Given the description of an element on the screen output the (x, y) to click on. 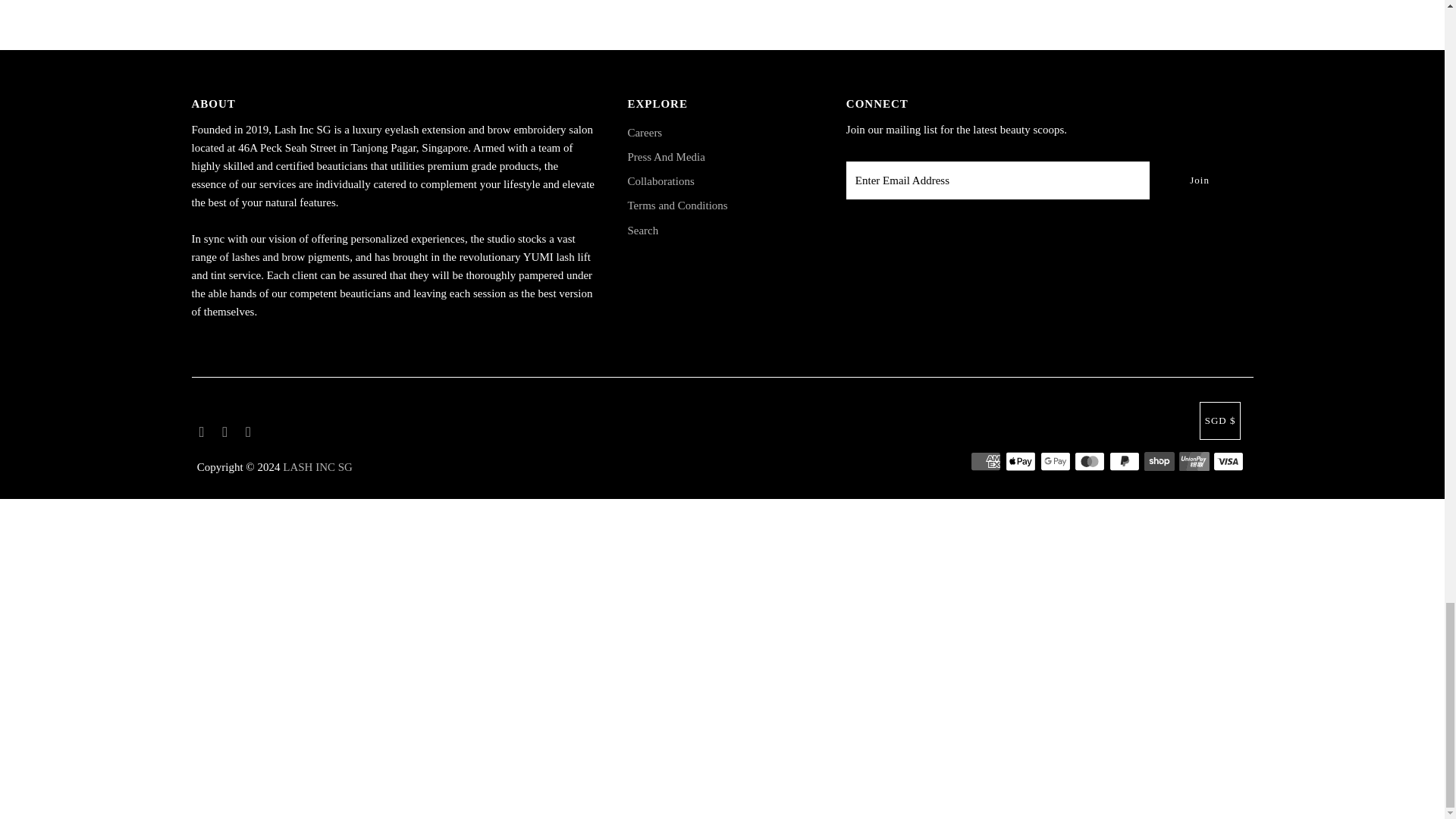
American Express (986, 461)
Apple Pay (1020, 461)
Visa (1227, 461)
Google Pay (1055, 461)
Shop Pay (1159, 461)
Mastercard (1089, 461)
PayPal (1124, 461)
Join (1200, 180)
Union Pay (1194, 461)
